Given the description of an element on the screen output the (x, y) to click on. 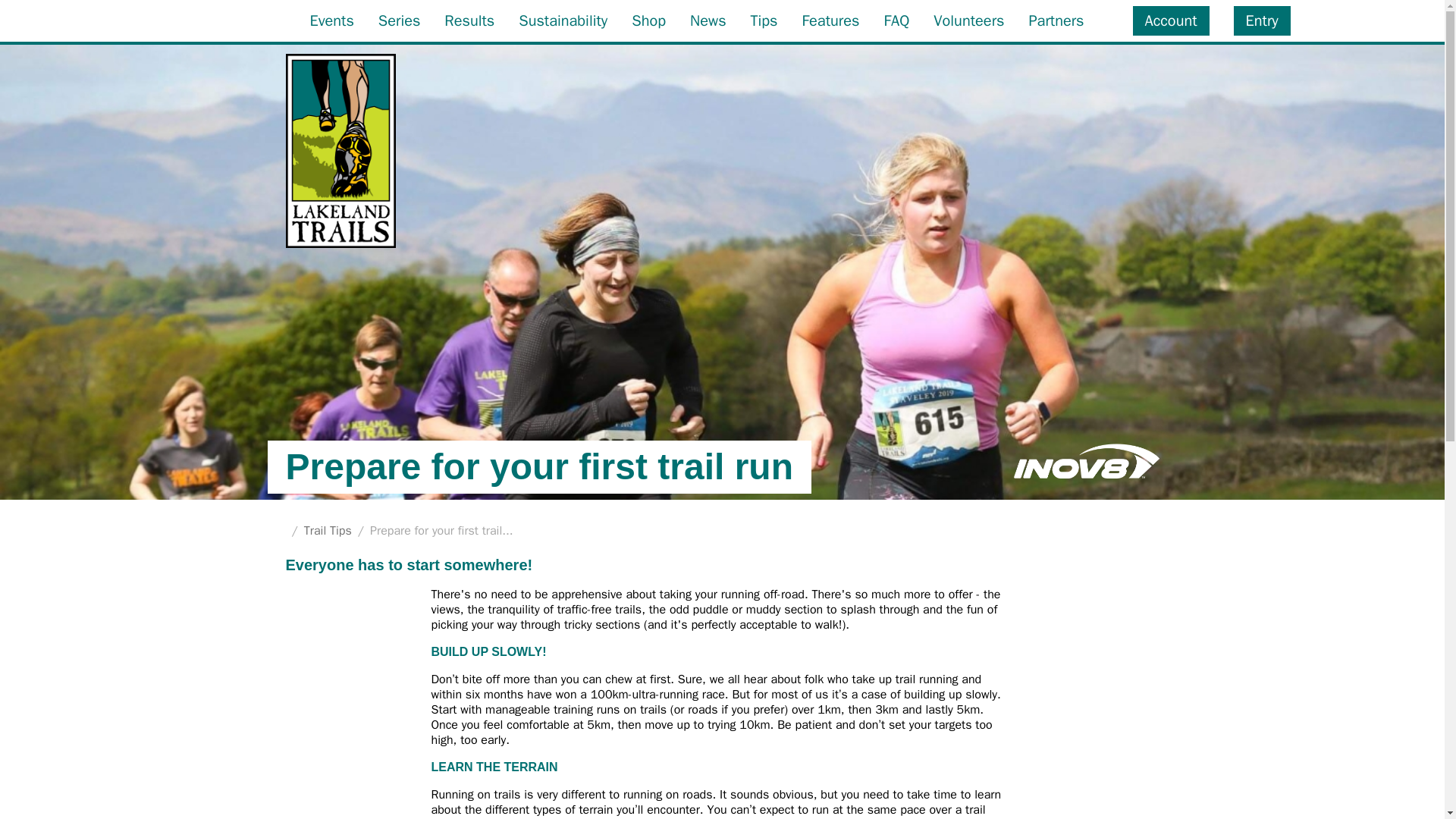
Shop (648, 20)
Series (399, 20)
Account (1170, 20)
Volunteers (968, 20)
Results (469, 20)
Partners (1055, 20)
Trail Tips (328, 530)
Events (330, 20)
Entry (1261, 20)
News (708, 20)
